Given the description of an element on the screen output the (x, y) to click on. 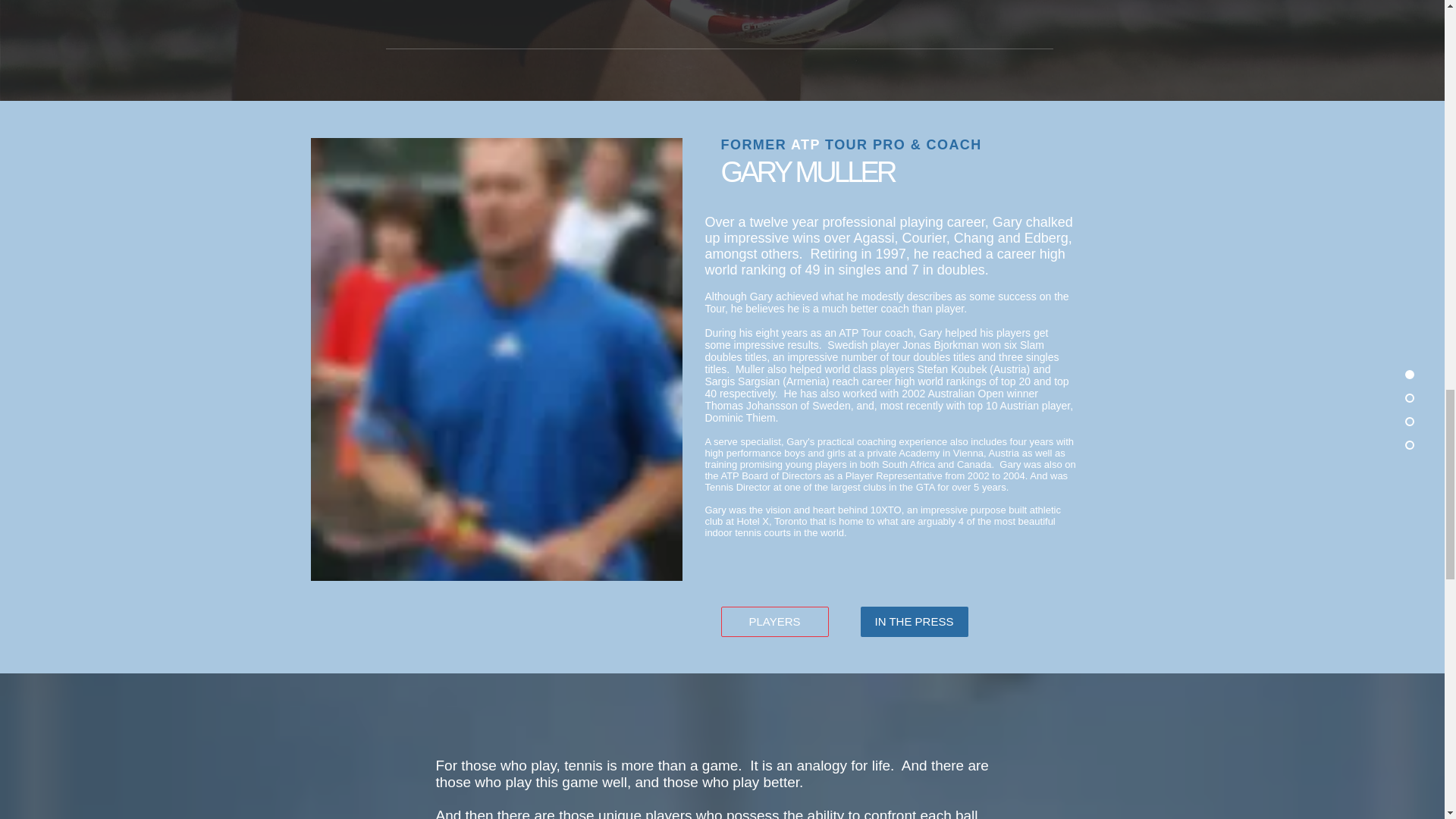
PLAYERS (774, 621)
IN THE PRESS (914, 621)
